Given the description of an element on the screen output the (x, y) to click on. 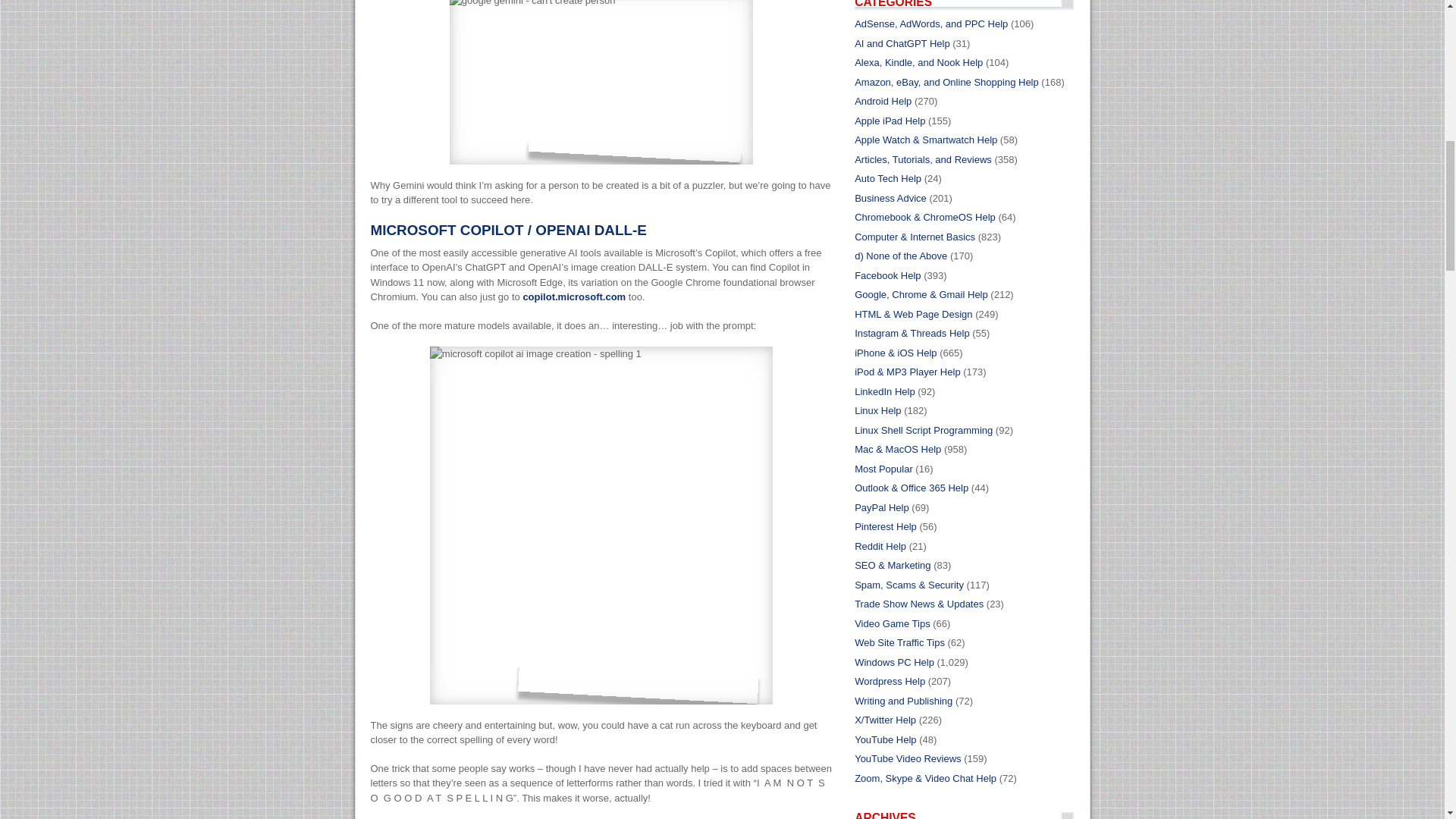
copilot.microsoft.com (574, 296)
